Given the description of an element on the screen output the (x, y) to click on. 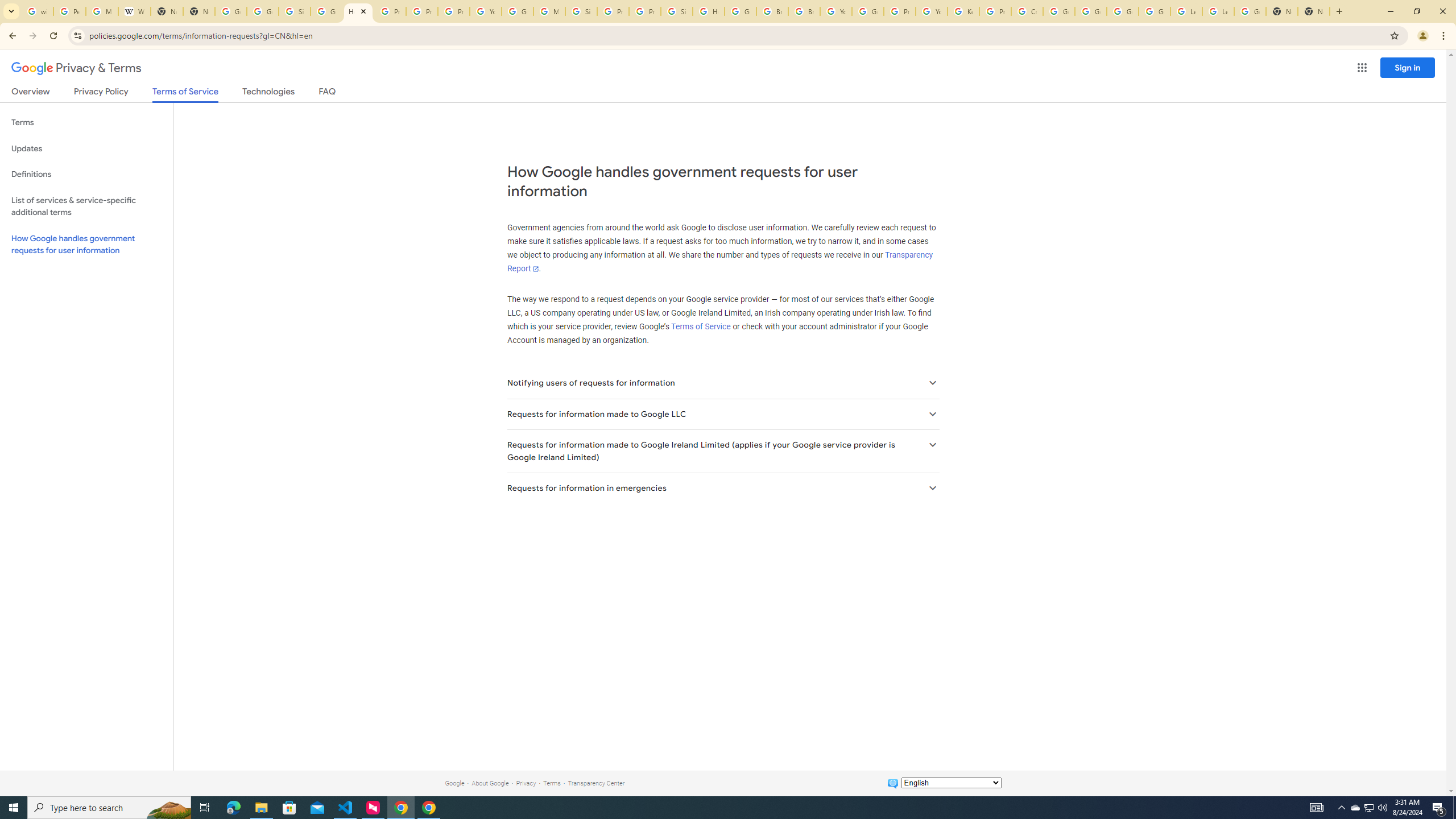
YouTube (931, 11)
About Google (490, 783)
YouTube (485, 11)
New Tab (1281, 11)
Transparency Center (595, 783)
Transparency Report (719, 262)
Google Account Help (1091, 11)
Sign in - Google Accounts (294, 11)
Google Account Help (1123, 11)
